Given the description of an element on the screen output the (x, y) to click on. 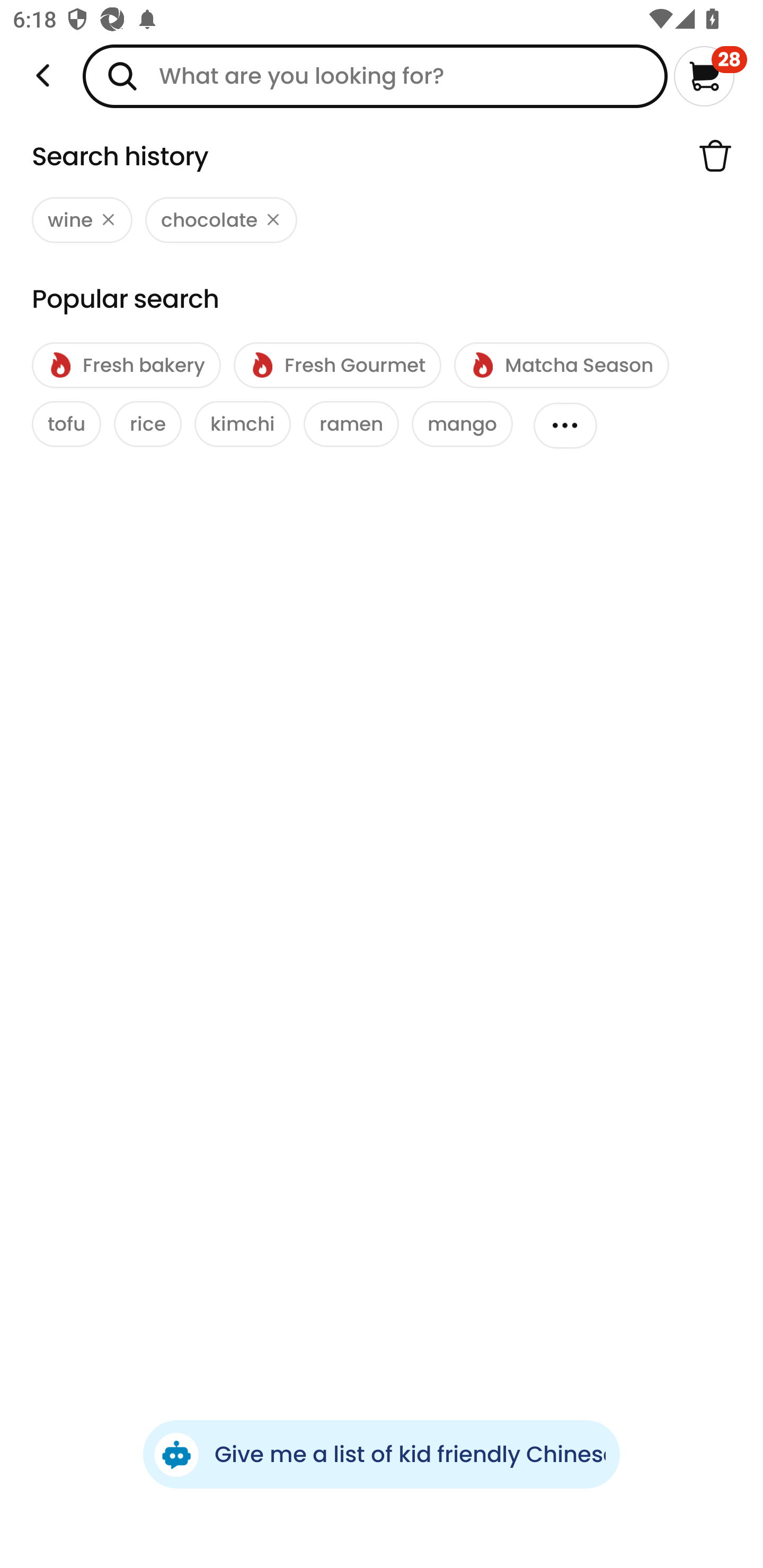
What are you looking for? (374, 75)
28 (709, 75)
Weee! (42, 76)
wine (82, 220)
chocolate (220, 220)
Fresh bakery (126, 364)
Fresh Gourmet (337, 364)
Matcha Season (561, 364)
tofu (66, 423)
rice (147, 423)
kimchi (242, 423)
ramen (351, 423)
mango (462, 423)
